Given the description of an element on the screen output the (x, y) to click on. 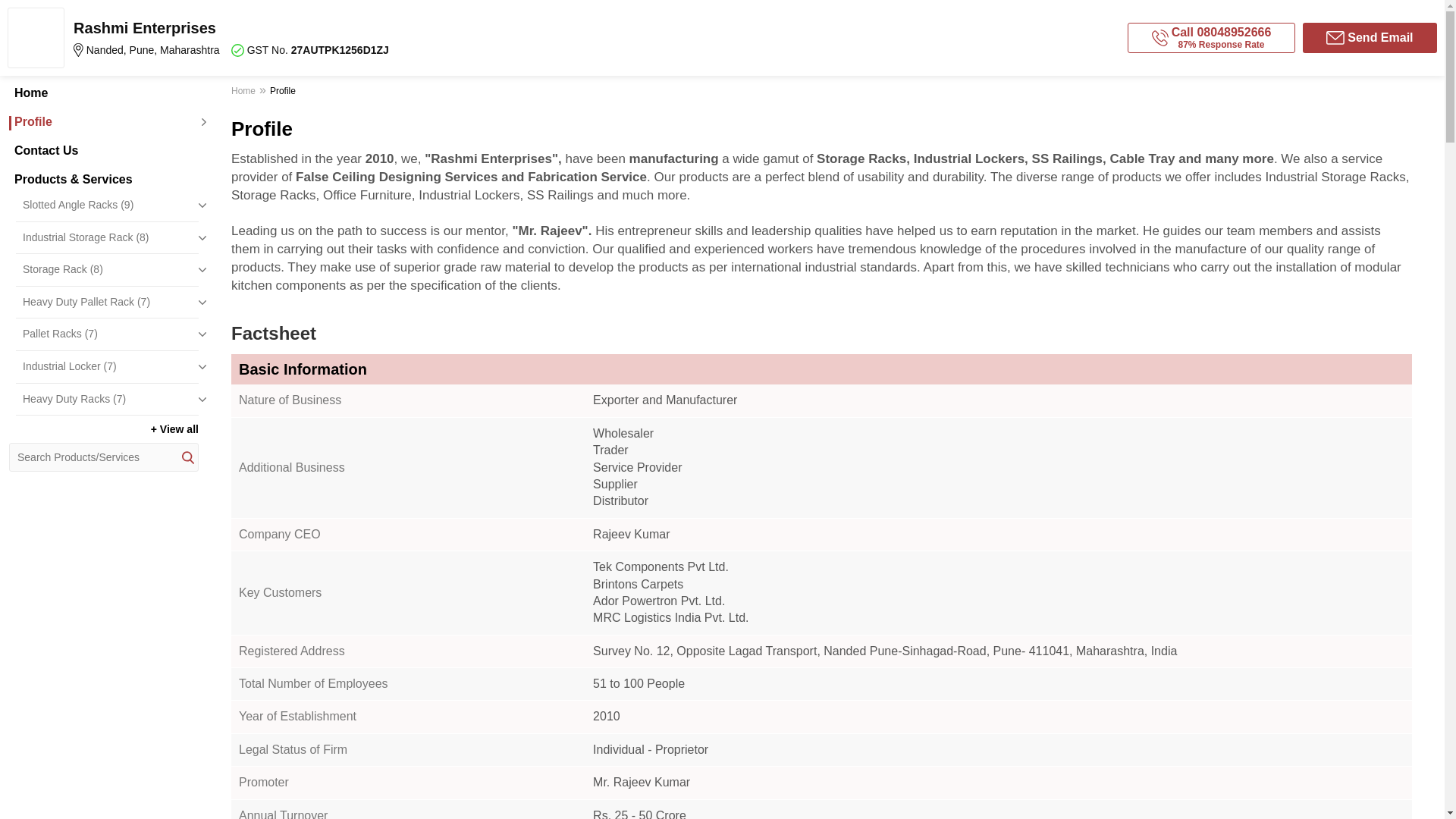
Contact Us (103, 150)
Home (103, 92)
Profile (103, 121)
